Given the description of an element on the screen output the (x, y) to click on. 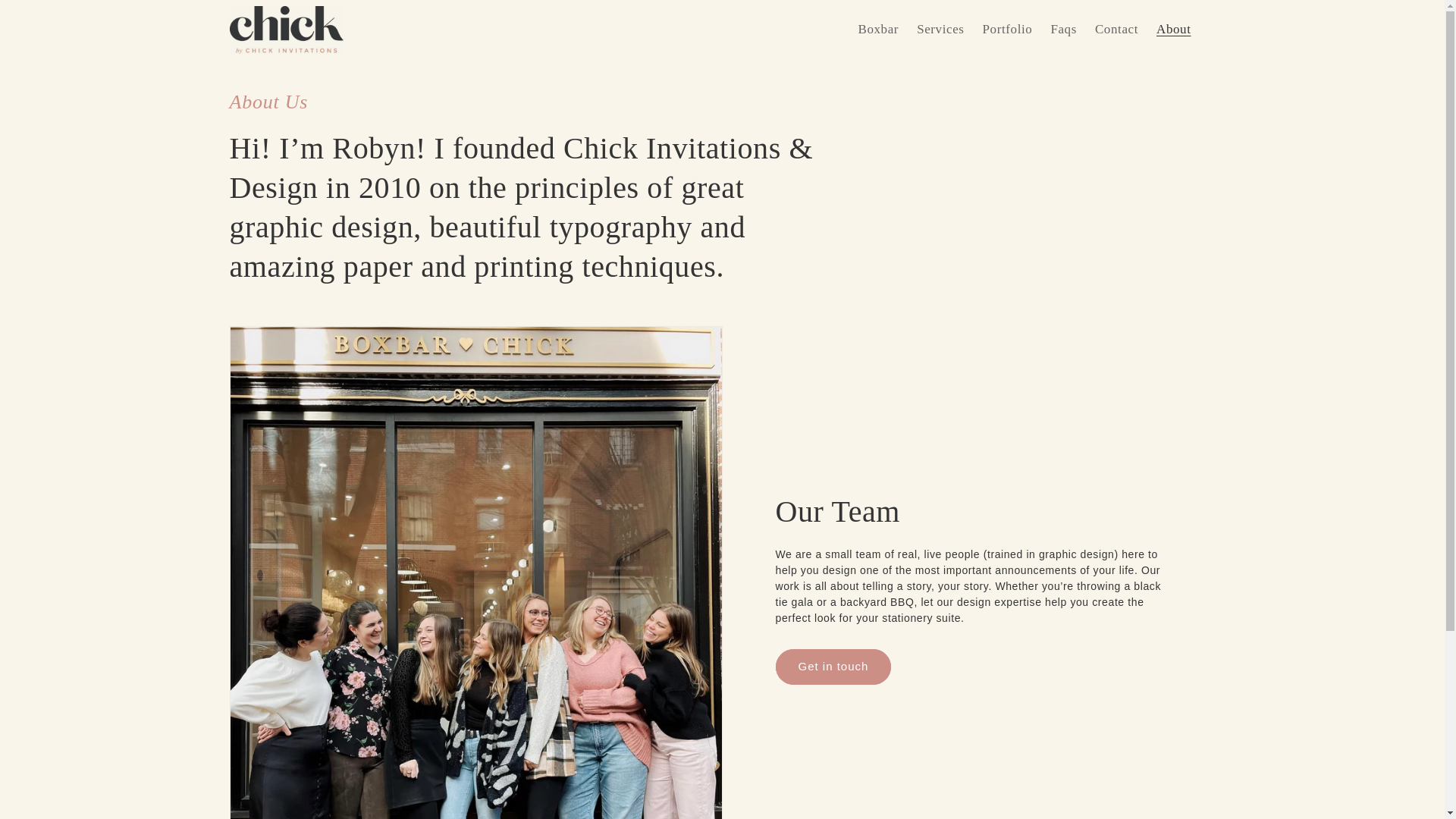
Boxbar (877, 29)
Services (939, 29)
Skip to content (45, 17)
Get in touch (832, 666)
Contact (1116, 29)
Portfolio (1008, 29)
Faqs (1063, 29)
About (1173, 29)
